Given the description of an element on the screen output the (x, y) to click on. 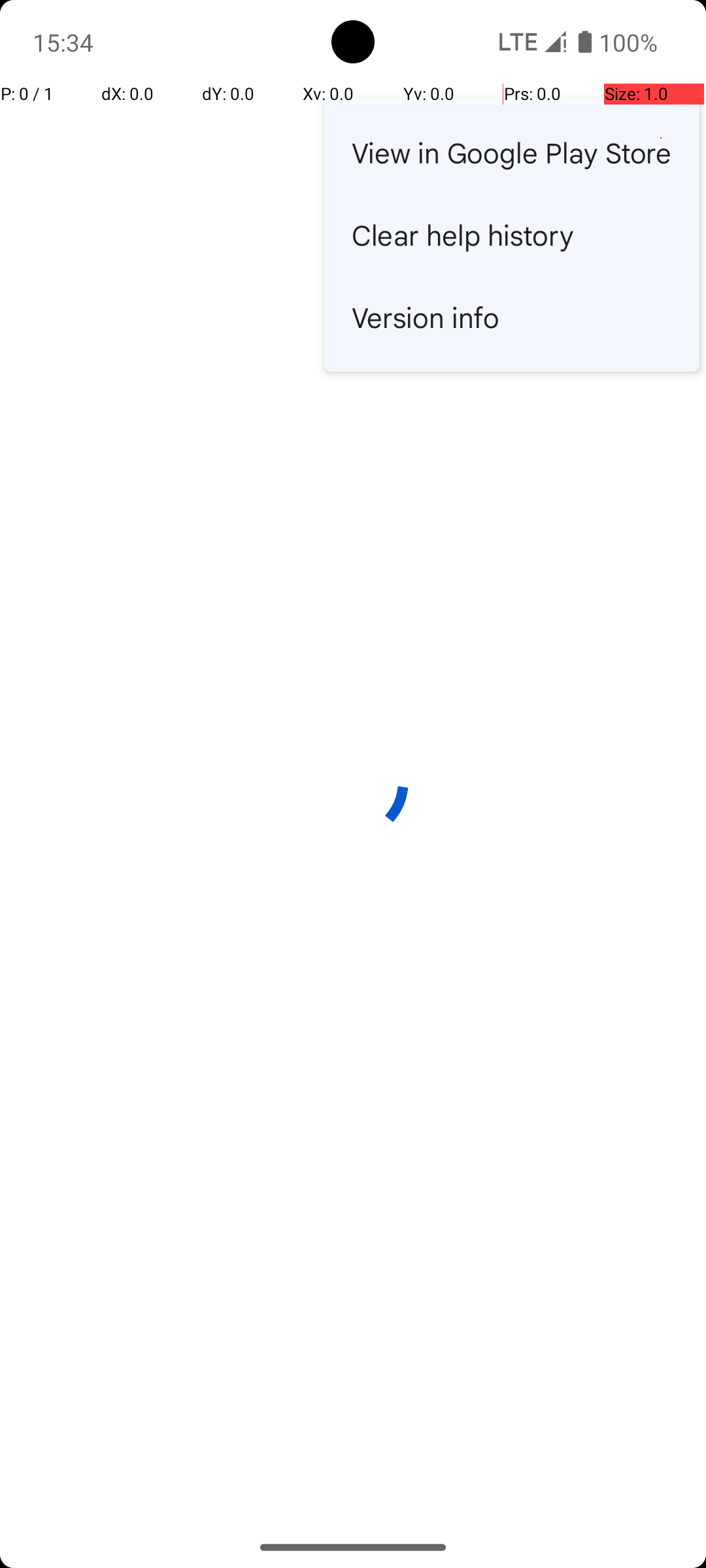
View in Google Play Store Element type: android.widget.TextView (511, 151)
Clear help history Element type: android.widget.TextView (511, 234)
Version info Element type: android.widget.TextView (511, 316)
